Given the description of an element on the screen output the (x, y) to click on. 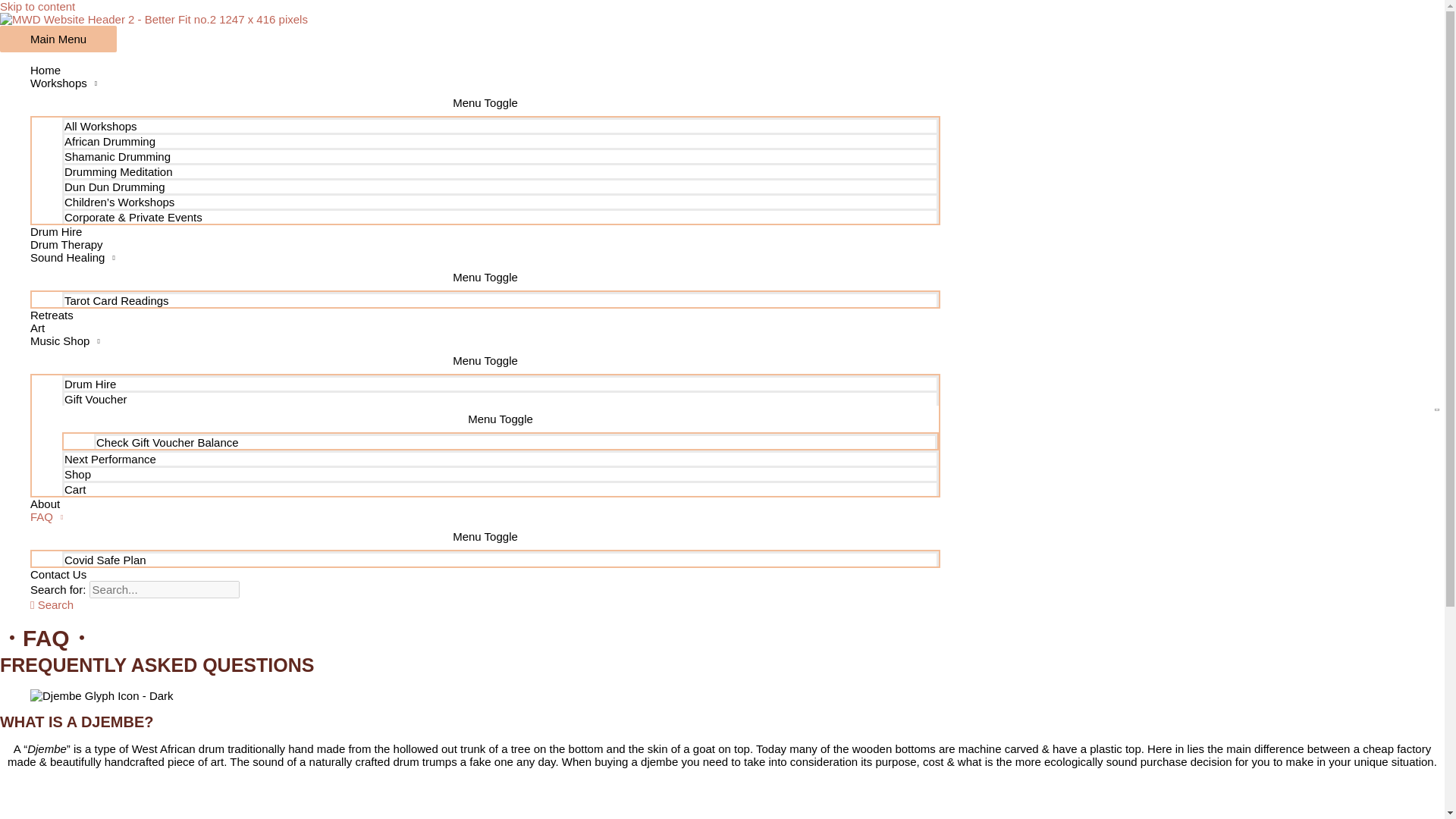
Music Shop (485, 340)
Skip to content (37, 6)
Tarot Card Readings (500, 299)
Drum Hire (485, 231)
All Workshops (500, 124)
Menu Toggle (485, 102)
Skip to content (37, 6)
Contact Us (485, 574)
Shamanic Drumming (500, 155)
Covid Safe Plan (500, 558)
African Drumming (500, 140)
Next Performance (500, 458)
Menu Toggle (485, 536)
Drum Hire (500, 382)
Shop (500, 473)
